Given the description of an element on the screen output the (x, y) to click on. 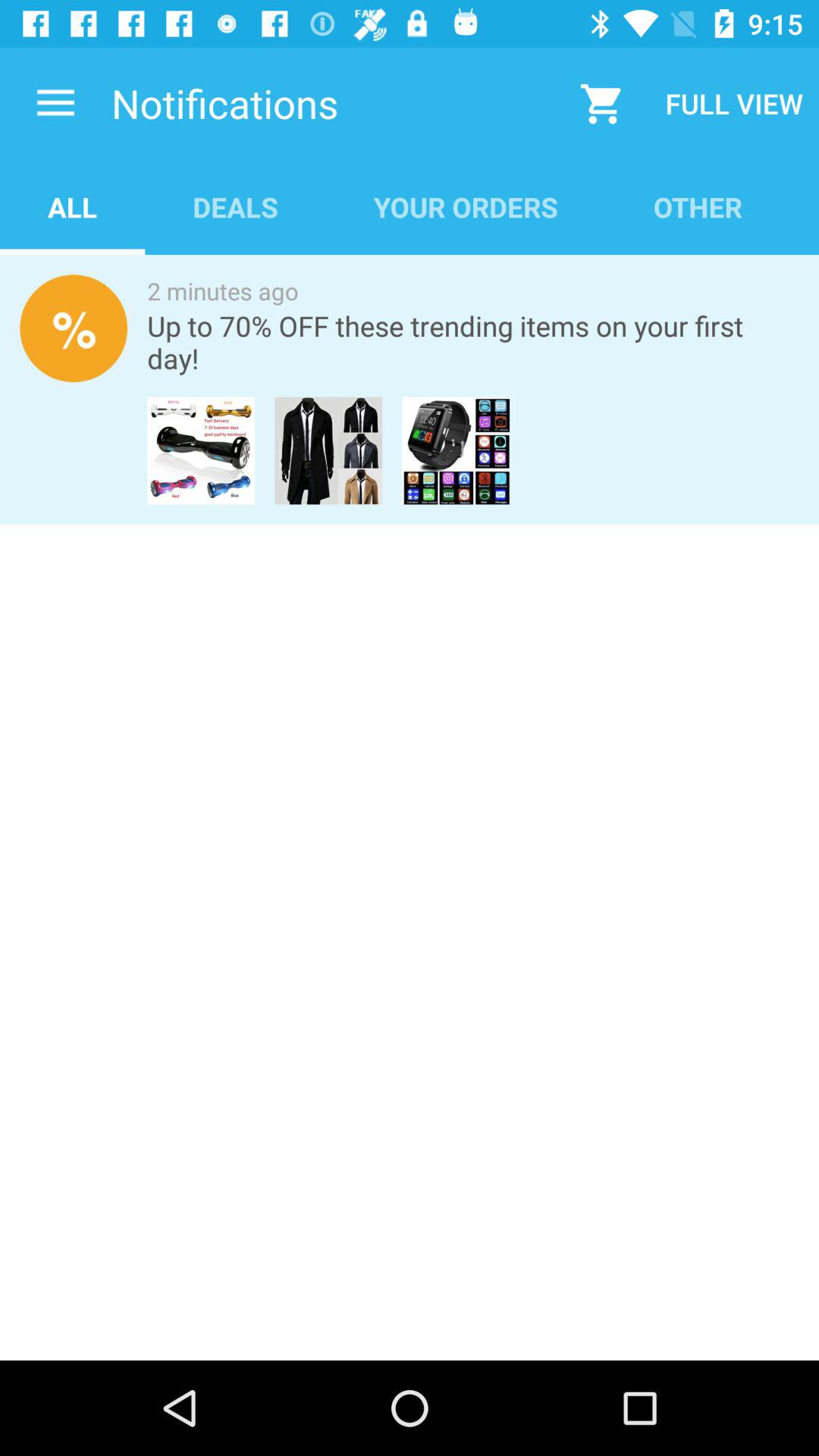
turn off icon next to the other item (465, 206)
